Given the description of an element on the screen output the (x, y) to click on. 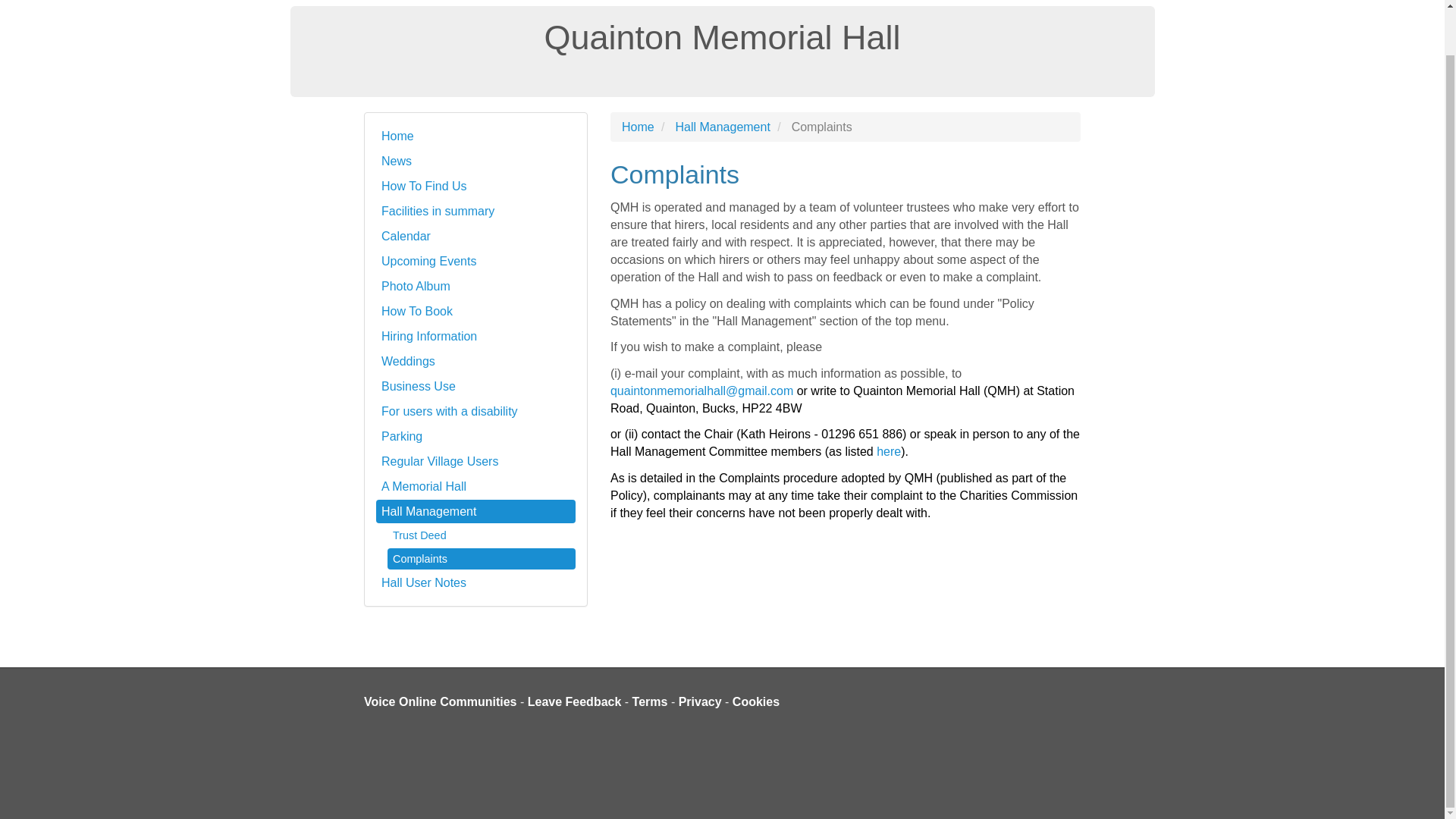
Charities Commission website QMH (888, 451)
Home (475, 136)
